Given the description of an element on the screen output the (x, y) to click on. 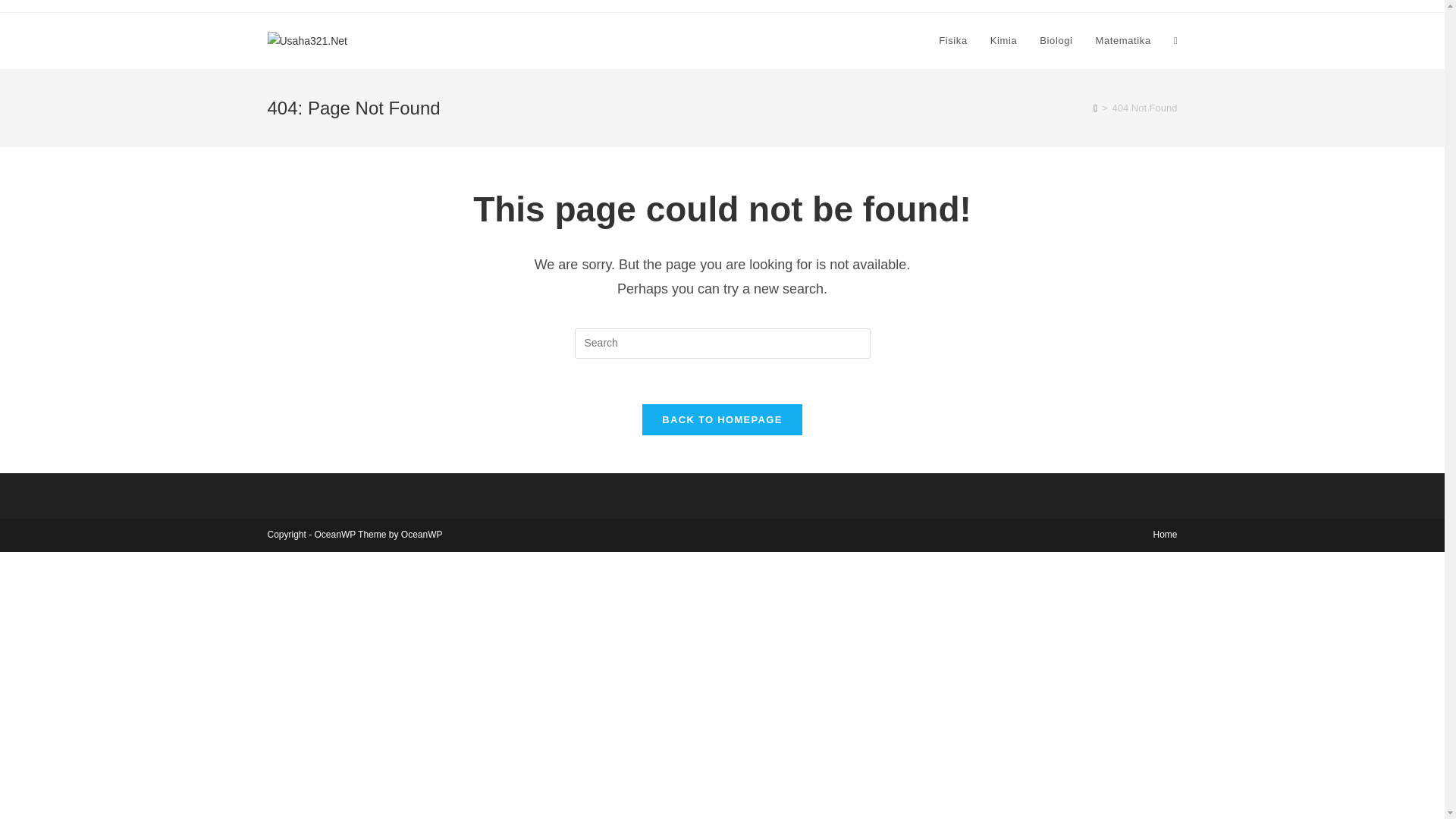
Home (1164, 534)
Kimia (1003, 40)
Matematika (1122, 40)
Biologi (1055, 40)
BACK TO HOMEPAGE (722, 419)
Fisika (952, 40)
